Given the description of an element on the screen output the (x, y) to click on. 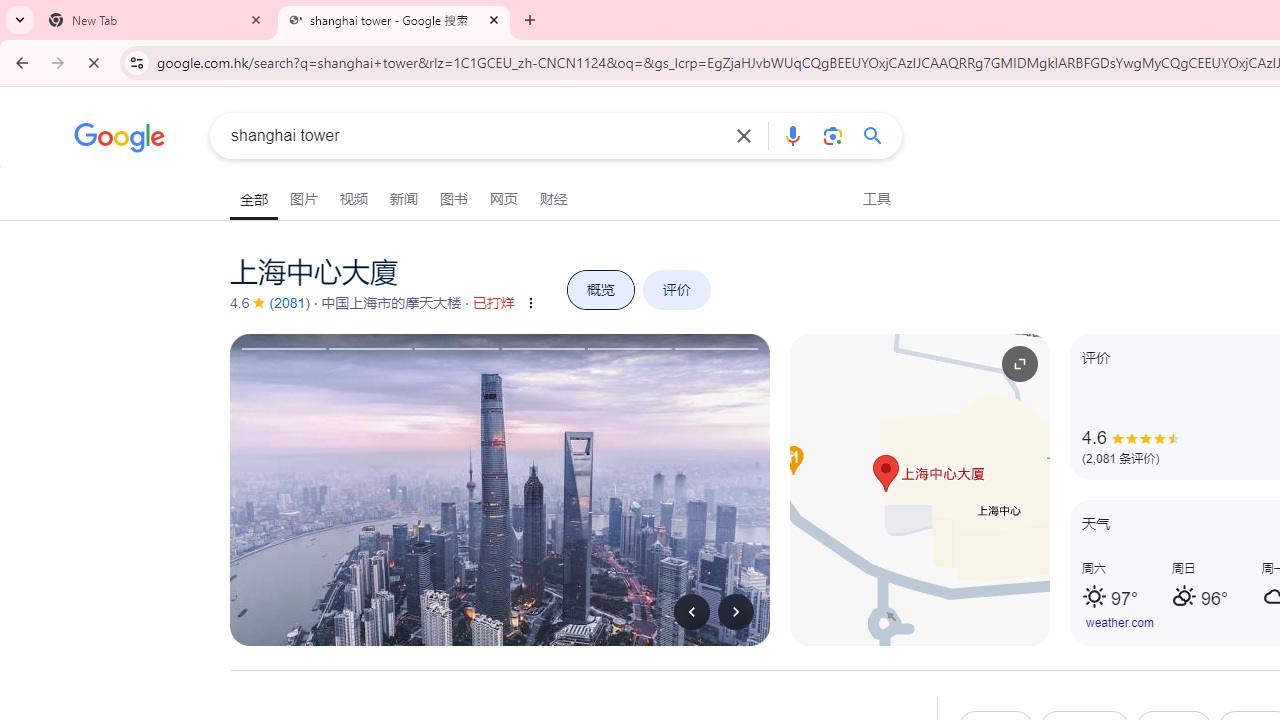
Google (120, 139)
